Given the description of an element on the screen output the (x, y) to click on. 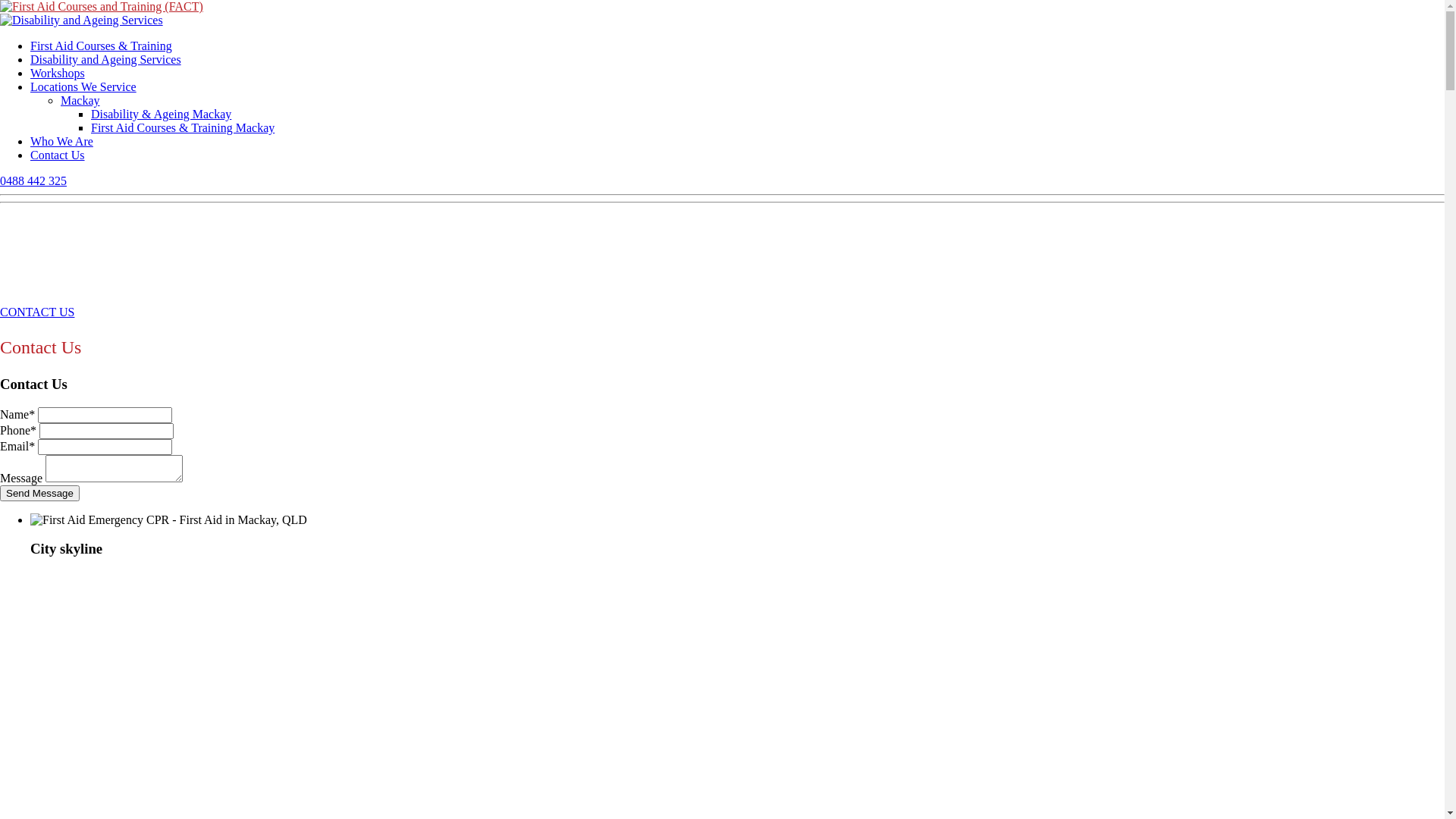
First Aid Courses & Training Element type: text (101, 45)
First Aid Courses and Training (FACT) Element type: hover (101, 6)
CONTACT US Element type: text (37, 311)
Contact Us Element type: text (57, 154)
Send Message Element type: text (39, 493)
0488 442 325 Element type: text (33, 180)
First Aid Courses & Training Mackay Element type: text (182, 127)
Disability and Ageing Services Element type: hover (81, 20)
Disability & Ageing Mackay Element type: text (161, 113)
Who We Are Element type: text (61, 140)
Locations We Service Element type: text (83, 86)
Disability and Ageing Services Element type: text (105, 59)
Mackay Element type: text (80, 100)
Workshops Element type: text (57, 72)
